Given the description of an element on the screen output the (x, y) to click on. 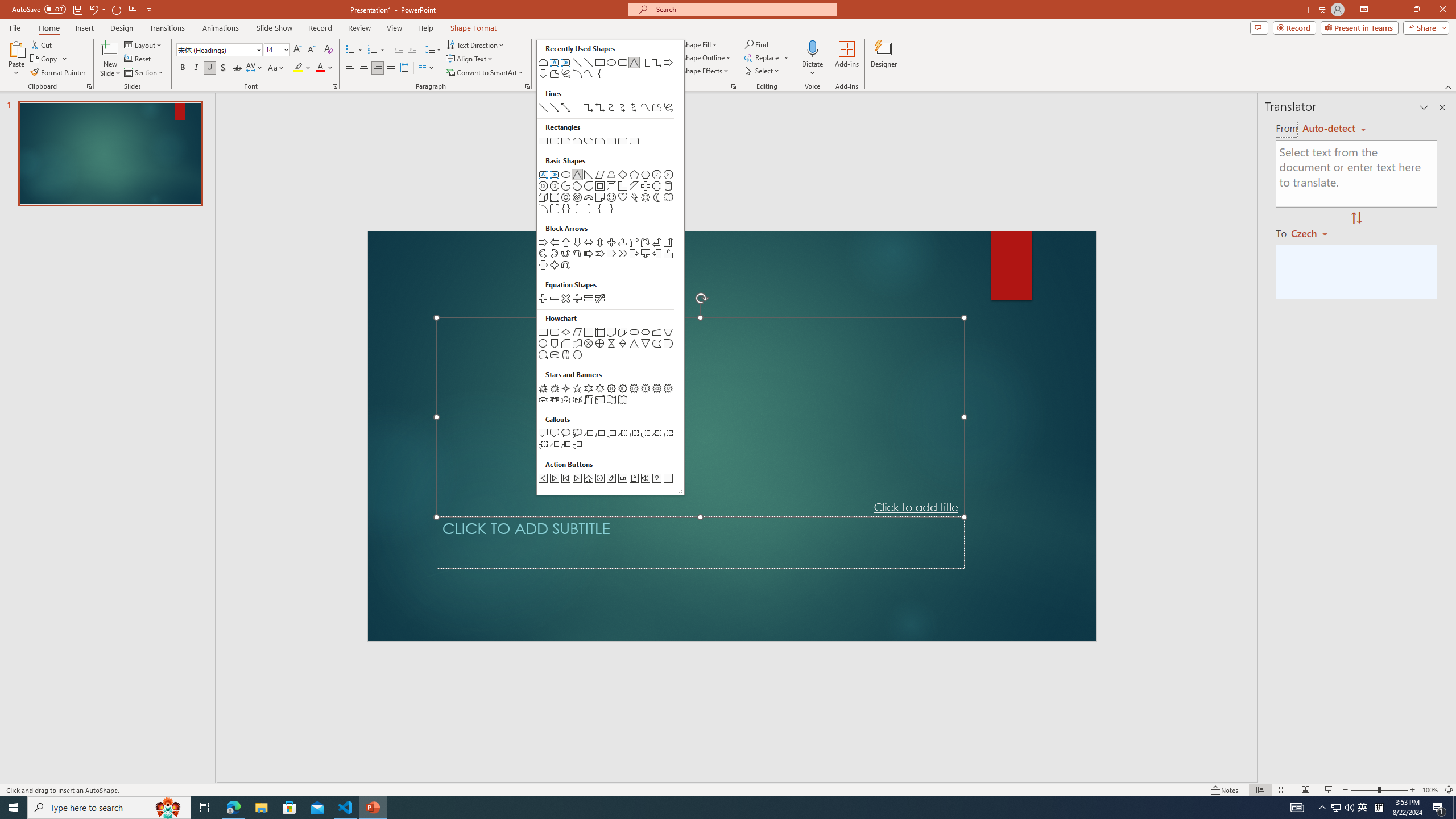
Decrease Font Size (310, 49)
Text Direction (476, 44)
Distributed (404, 67)
